Given the description of an element on the screen output the (x, y) to click on. 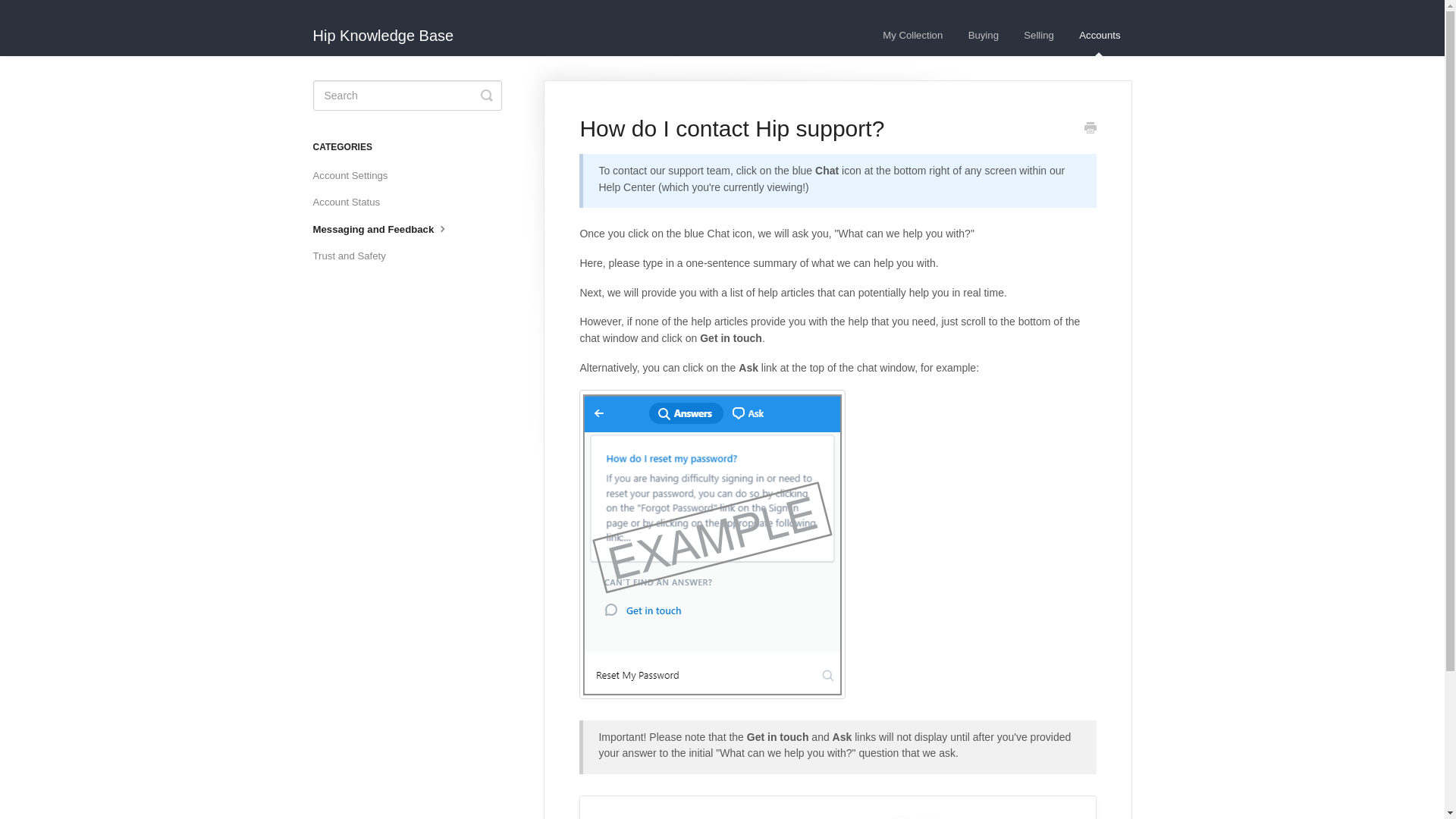
Account Settings (355, 175)
Selling (1038, 35)
Messaging and Feedback (387, 229)
Account Status (352, 202)
Buying (983, 35)
Hip Knowledge Base (390, 28)
Accounts (1099, 35)
search-query (406, 95)
Yes (900, 818)
No (927, 818)
My Collection (911, 35)
Trust and Safety (354, 256)
